Given the description of an element on the screen output the (x, y) to click on. 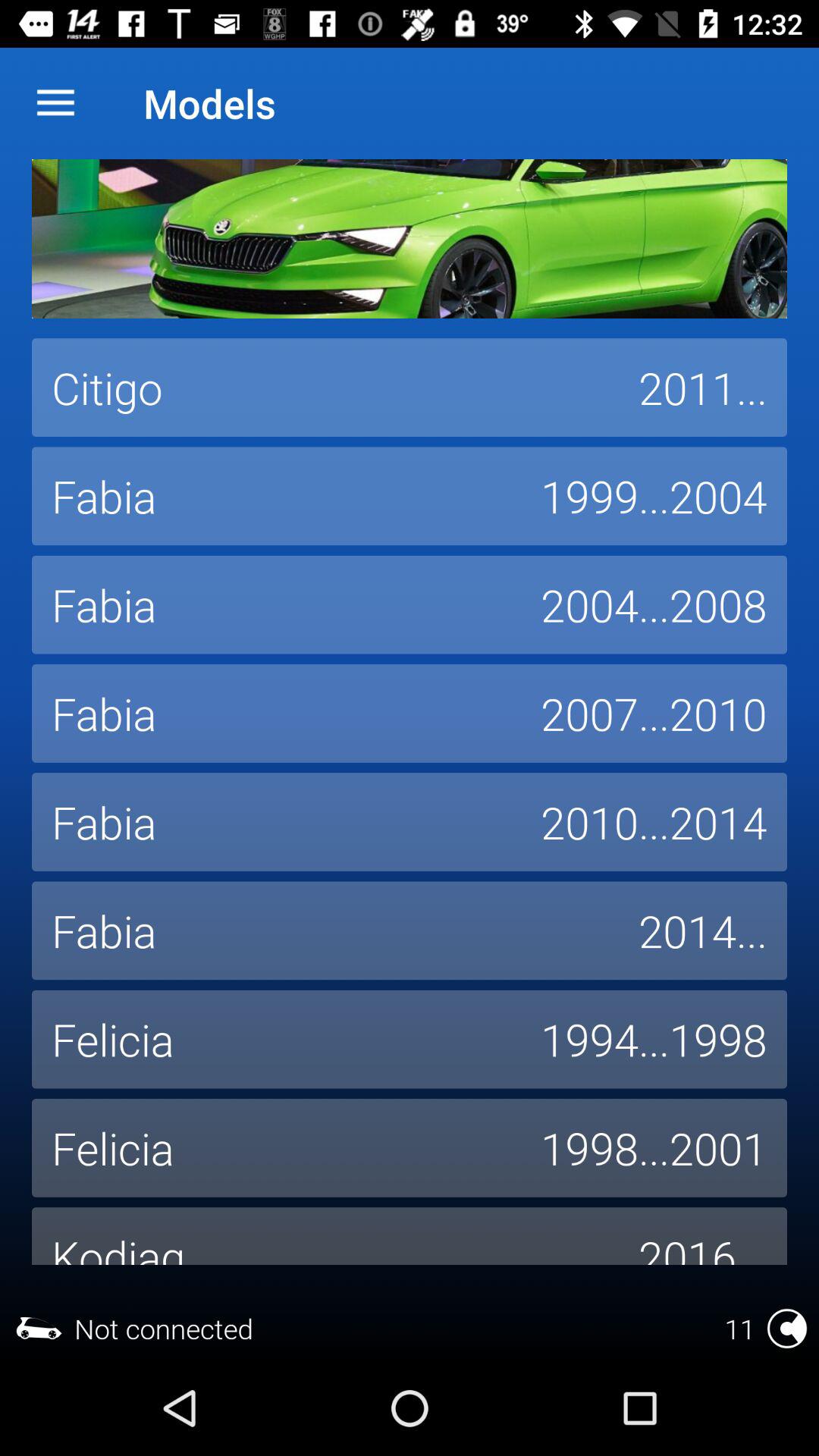
press item next to citigo (702, 387)
